Given the description of an element on the screen output the (x, y) to click on. 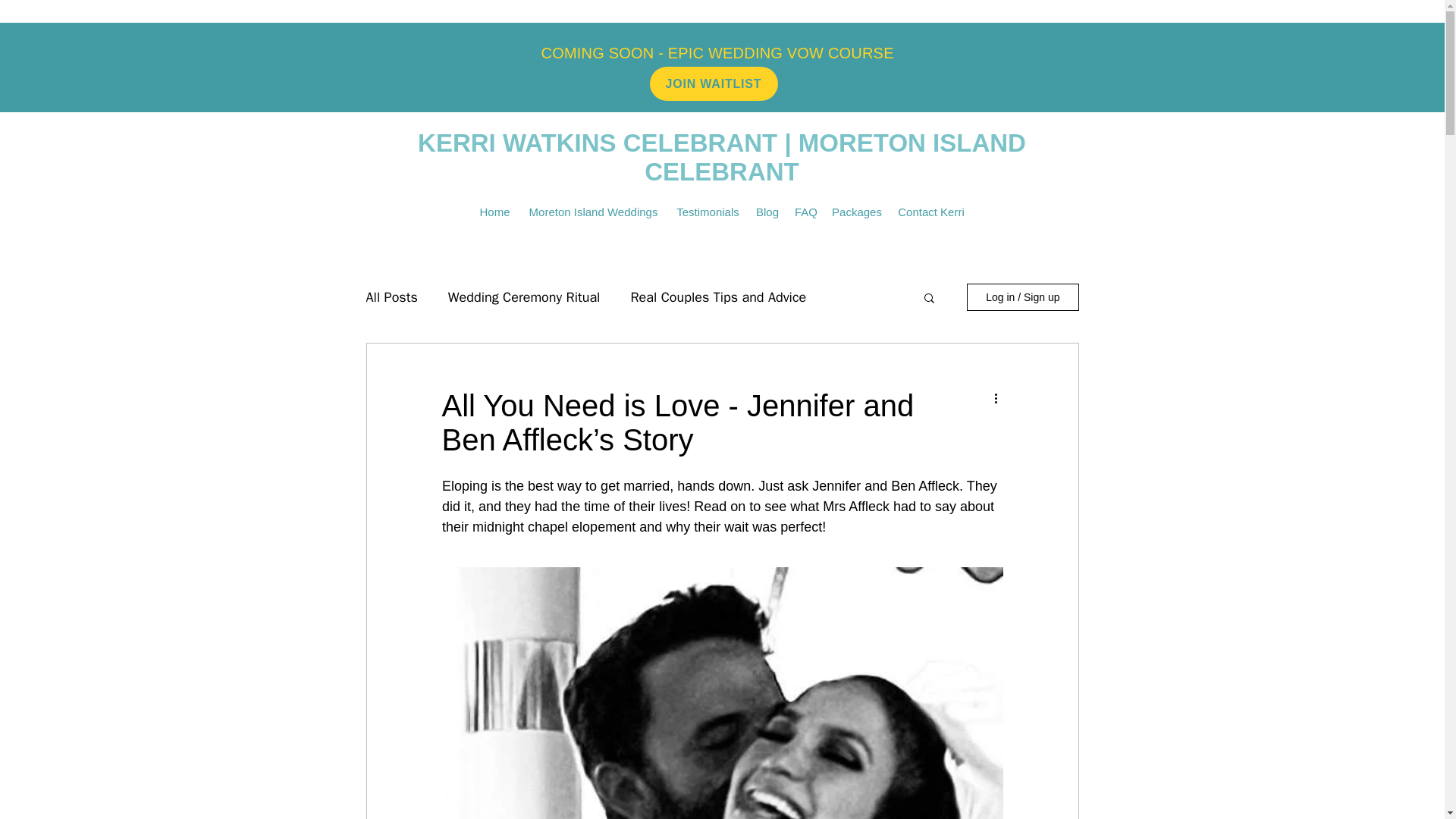
Testimonials (708, 211)
Home (494, 211)
FAQ (805, 211)
Packages (856, 211)
Wedding Ceremony Ritual (523, 297)
All Posts (390, 297)
Real Couples Tips and Advice (718, 297)
JOIN WAITLIST (713, 83)
Moreton Island Weddings (593, 211)
Blog (767, 211)
